Given the description of an element on the screen output the (x, y) to click on. 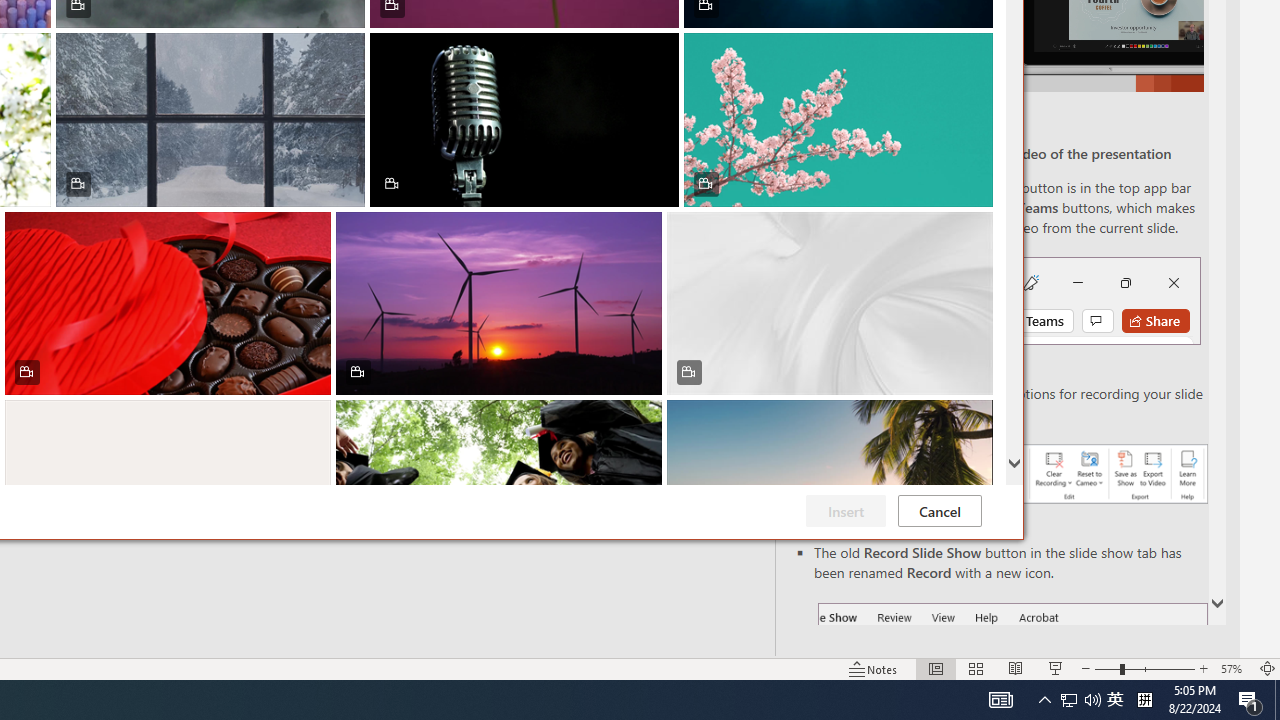
Thumbnail (977, 414)
